Given the description of an element on the screen output the (x, y) to click on. 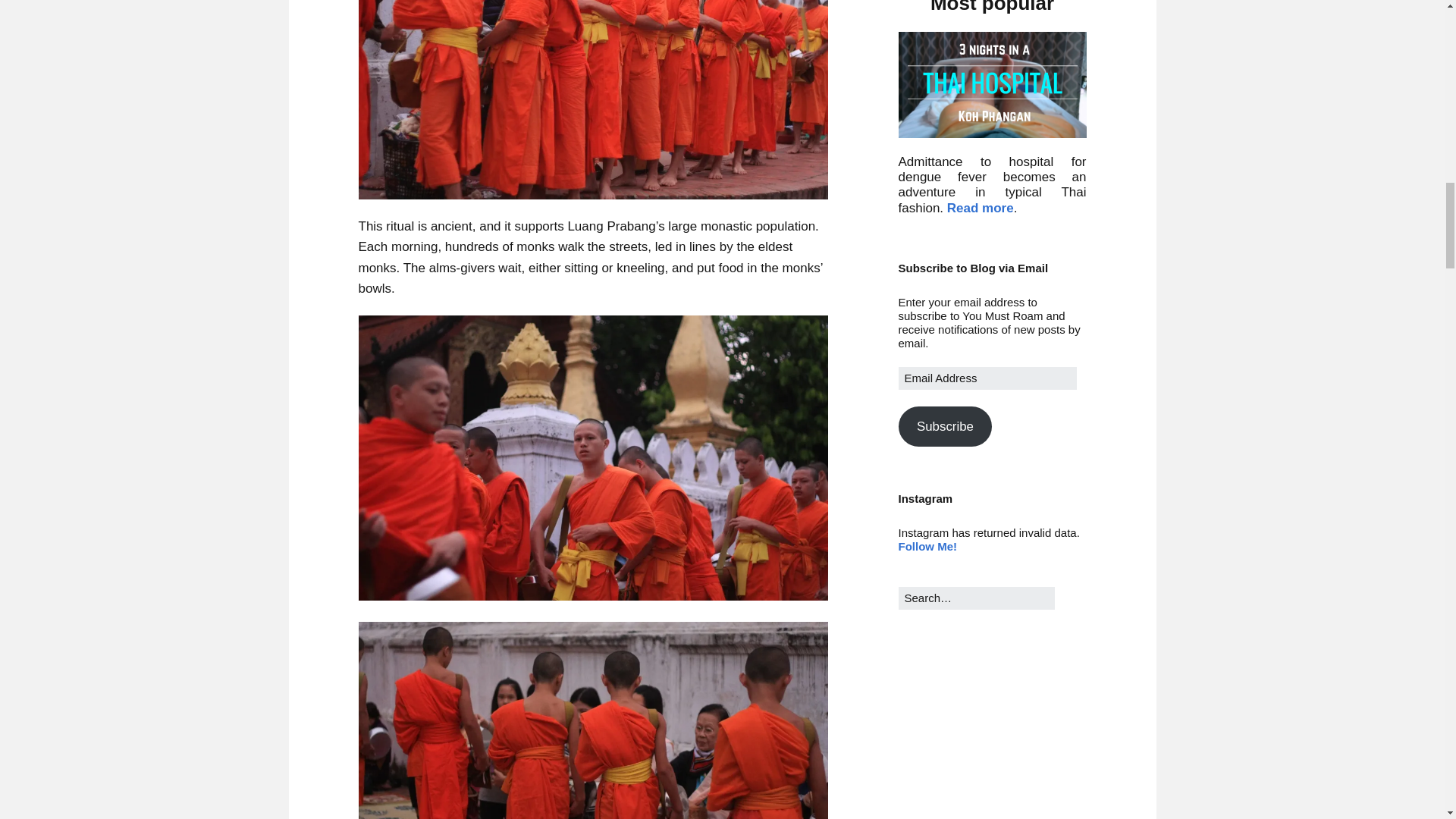
Press Enter to submit your search (976, 598)
